Given the description of an element on the screen output the (x, y) to click on. 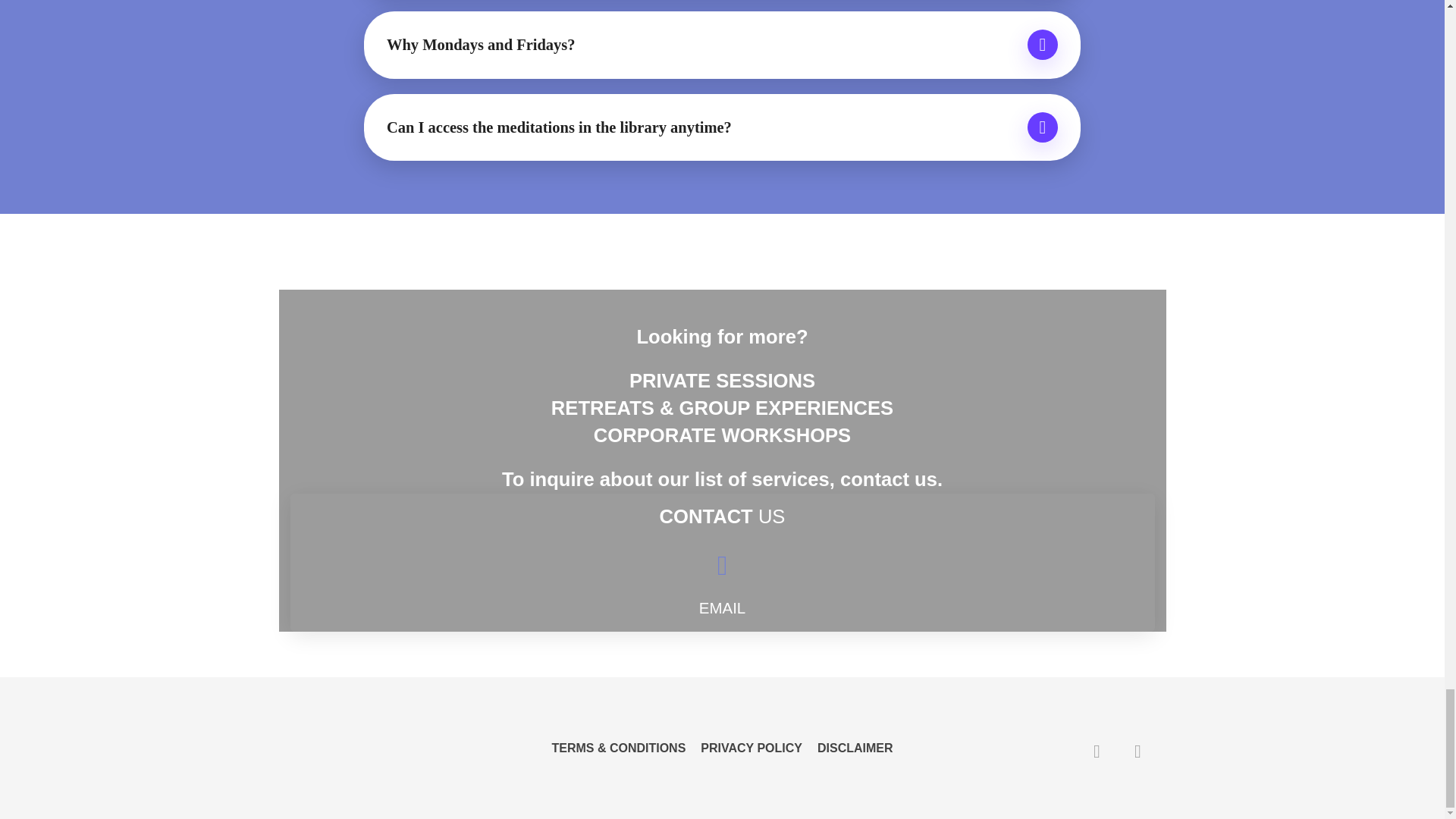
PRIVACY POLICY (751, 748)
EMAIL (721, 607)
DISCLAIMER (851, 748)
